Given the description of an element on the screen output the (x, y) to click on. 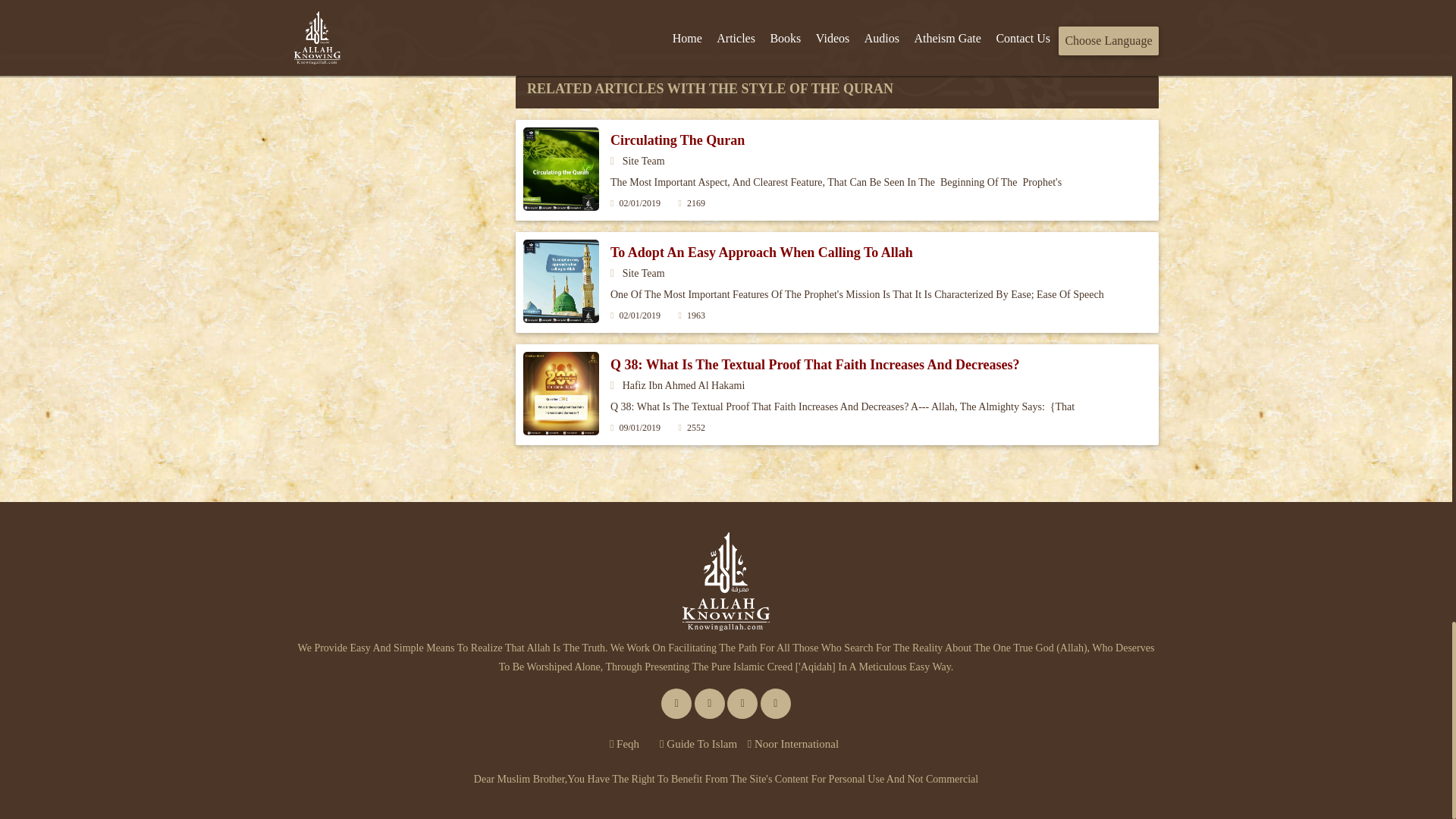
Circulating the Quran (677, 140)
To adopt an easy approach when calling to Allah (761, 252)
